Given the description of an element on the screen output the (x, y) to click on. 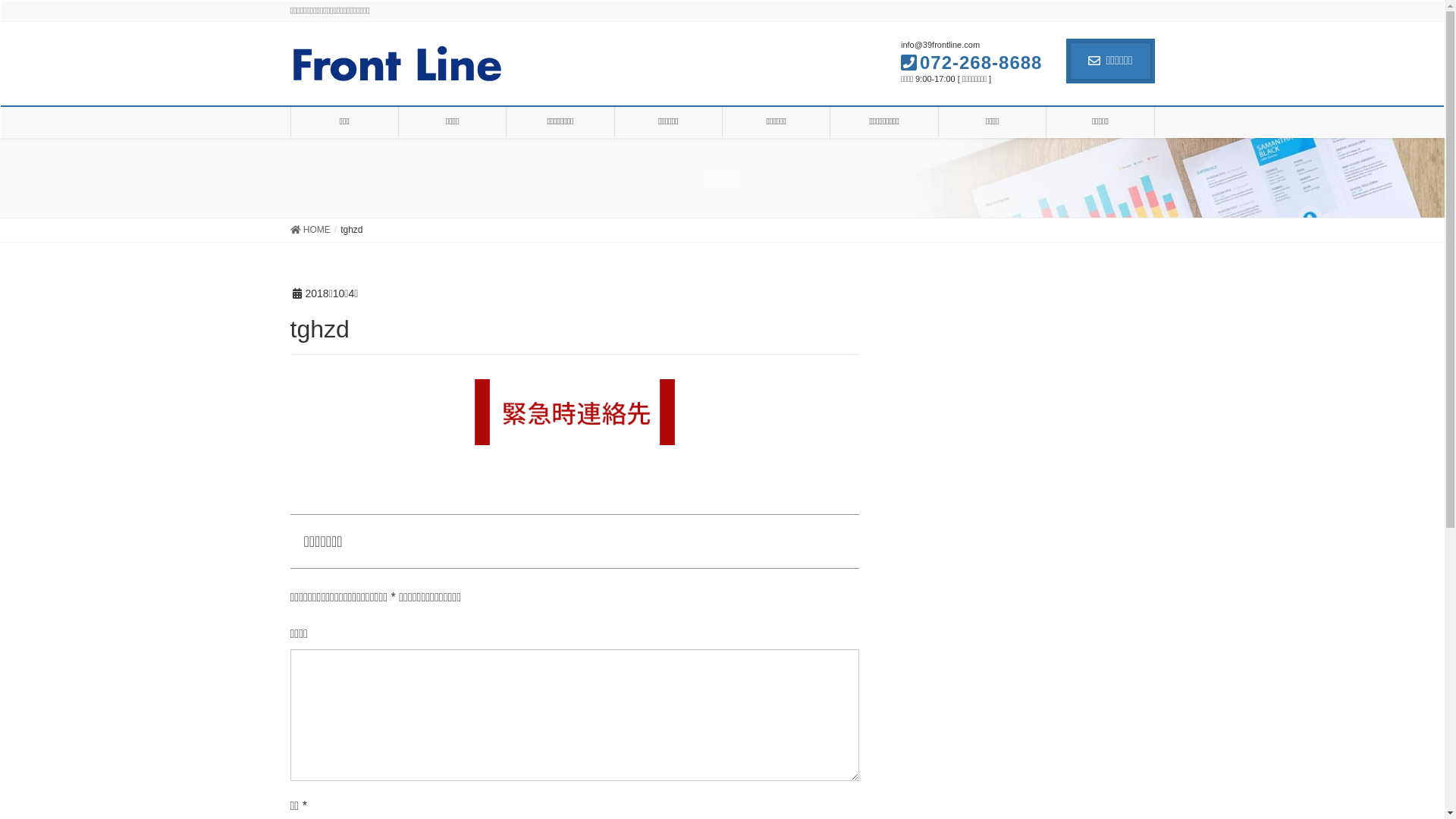
HOME Element type: text (309, 230)
